Given the description of an element on the screen output the (x, y) to click on. 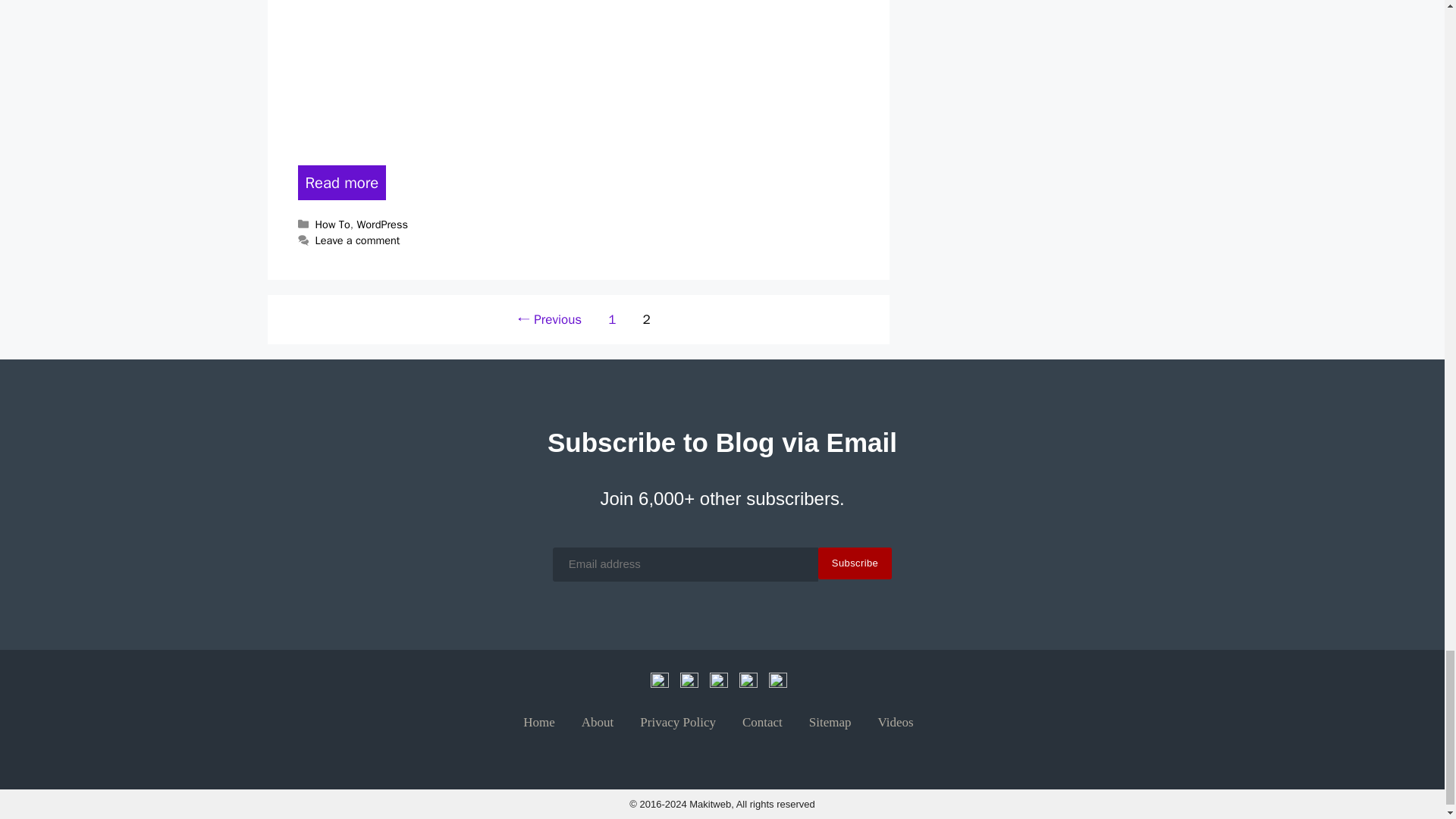
How to embed SlideShare Presentation in WordPress (341, 182)
Subscribe (854, 563)
